Given the description of an element on the screen output the (x, y) to click on. 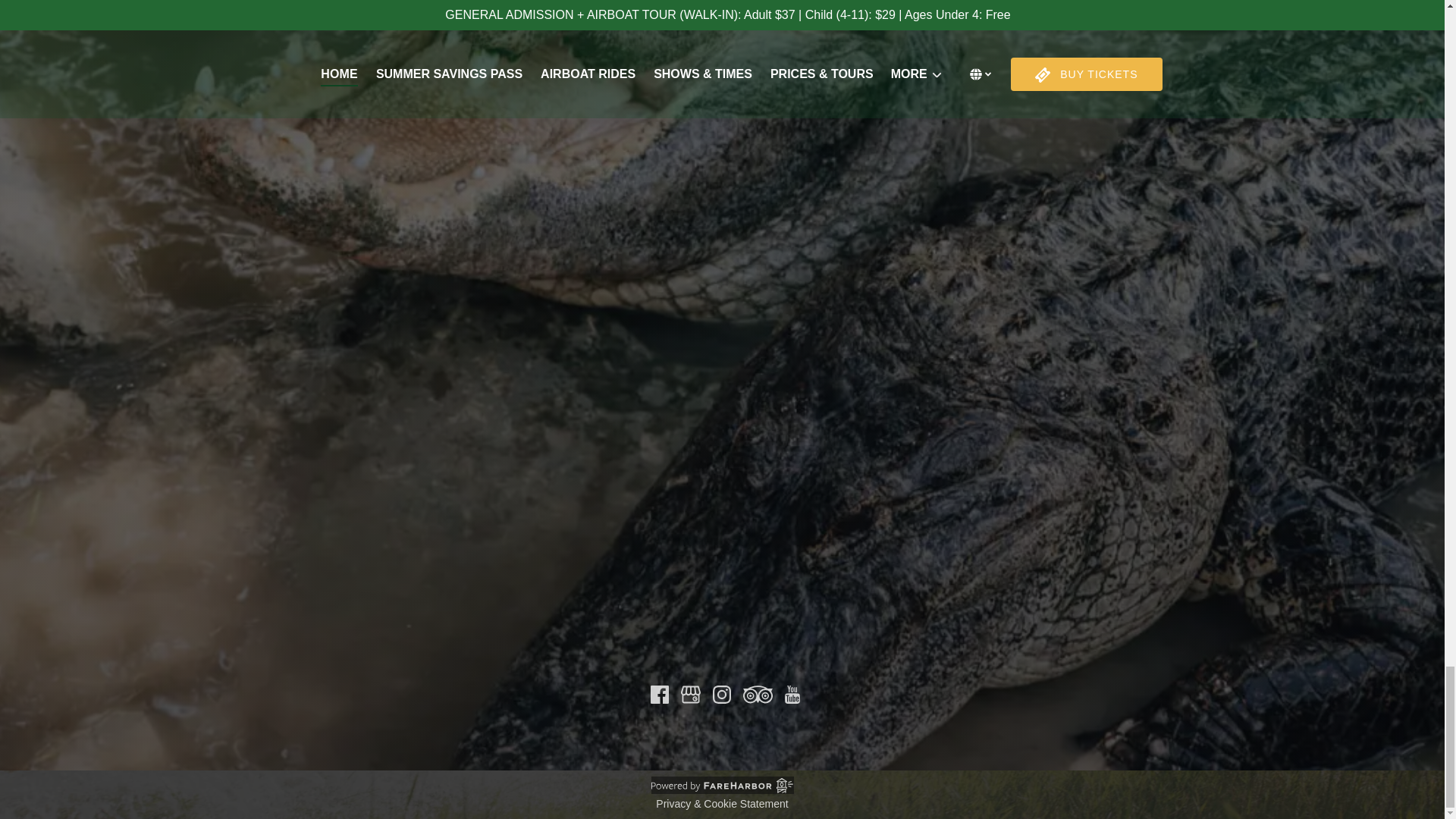
Visit our Google My Business Profile (690, 694)
Visit our Facebook (659, 694)
Visit our TripAdvisor (757, 694)
Visit our Instagram (721, 694)
